Given the description of an element on the screen output the (x, y) to click on. 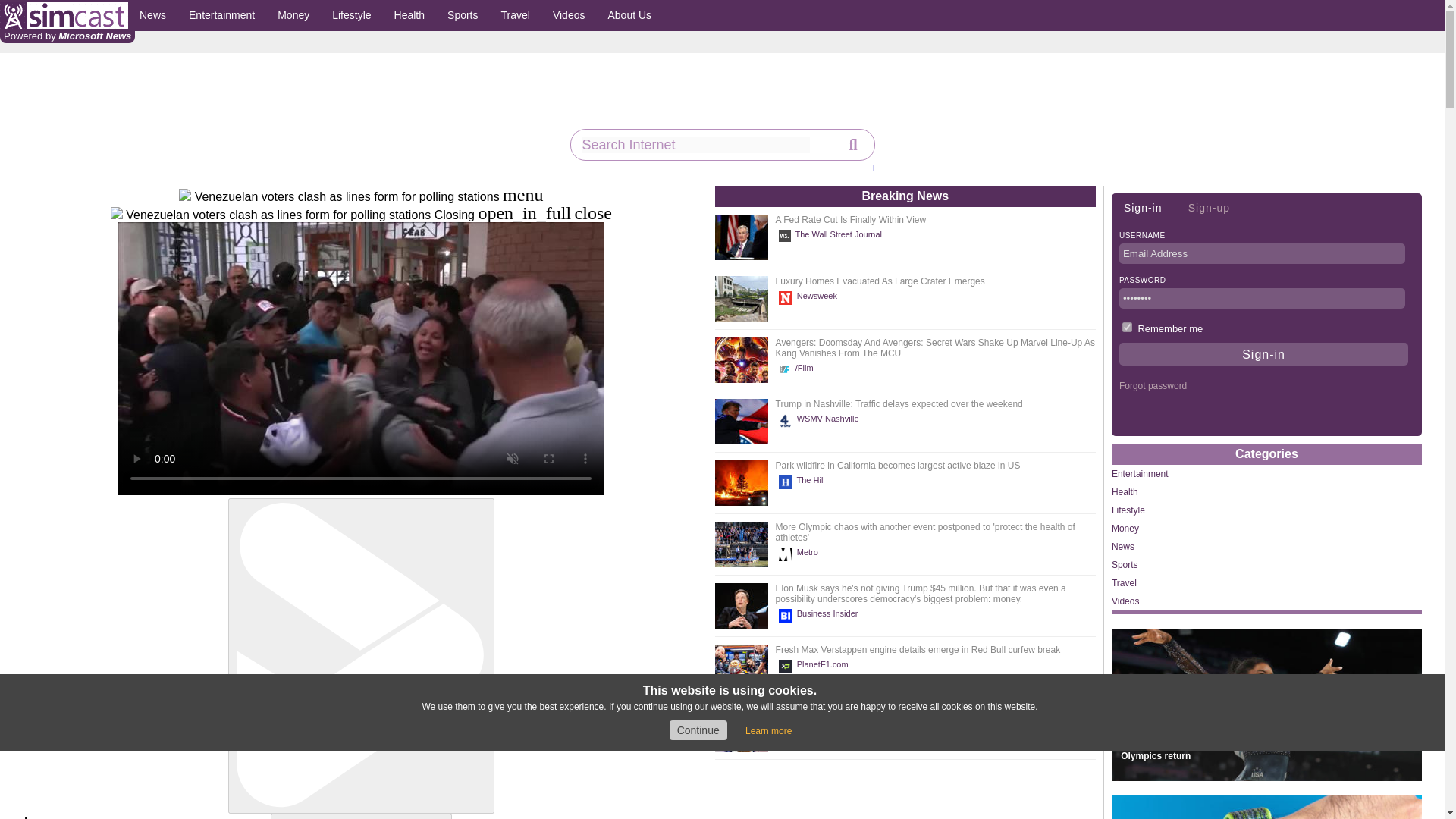
A Fed Rate Cut Is Finally Within View (851, 219)
Lifestyle (350, 15)
Health (408, 15)
About Us (628, 15)
Search Internet (695, 145)
Health (408, 15)
Money (293, 15)
Videos (568, 15)
Travel (515, 15)
Password (1262, 298)
Money (293, 15)
Entertainment (221, 15)
  Newsweek   (809, 297)
  The Wall Street Journal   (832, 235)
